Given the description of an element on the screen output the (x, y) to click on. 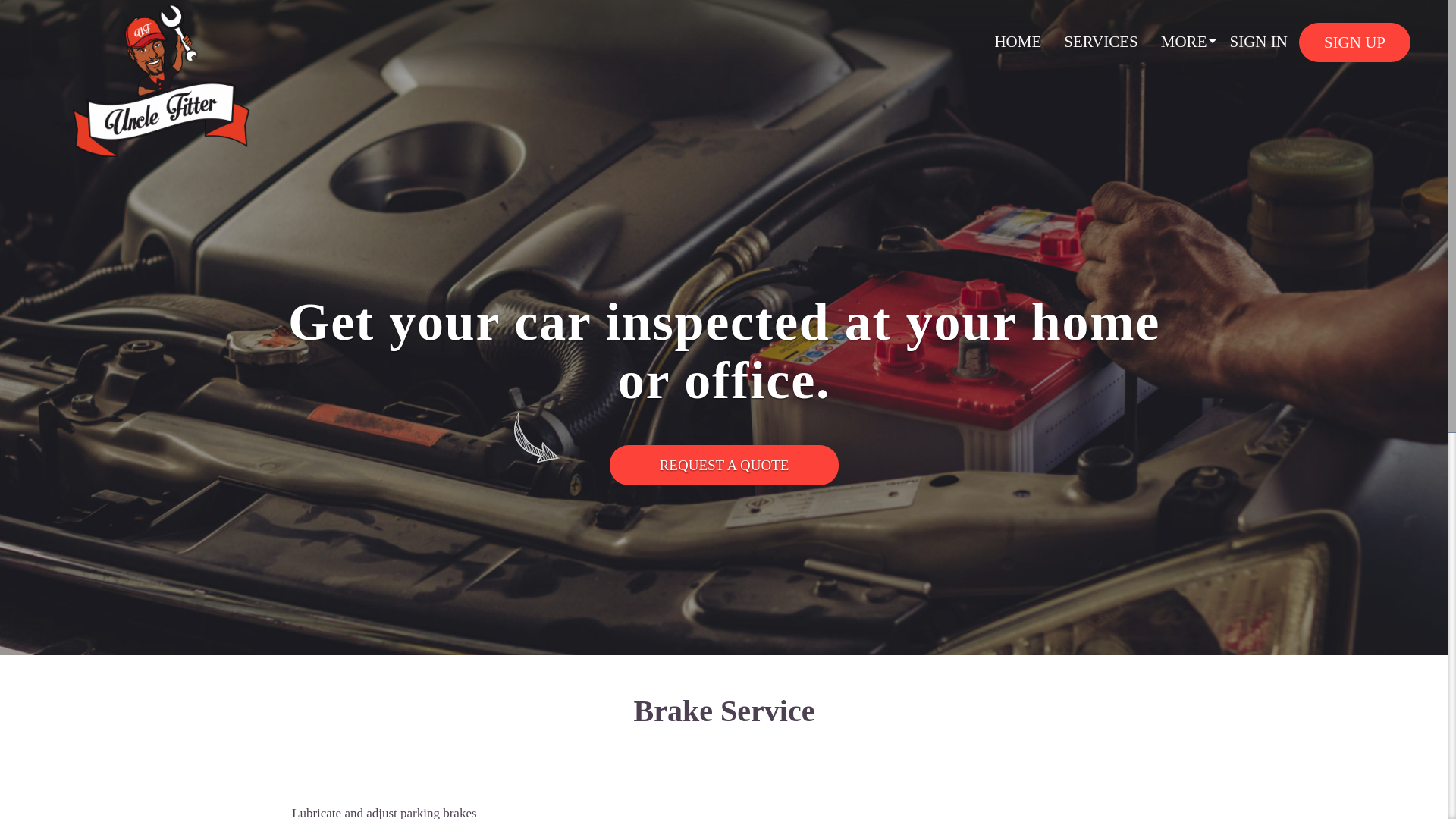
SIGN UP (1354, 42)
HOME (1017, 41)
MORE (1184, 41)
SERVICES (1101, 41)
SIGN IN (1257, 41)
REQUEST A QUOTE (725, 465)
